Given the description of an element on the screen output the (x, y) to click on. 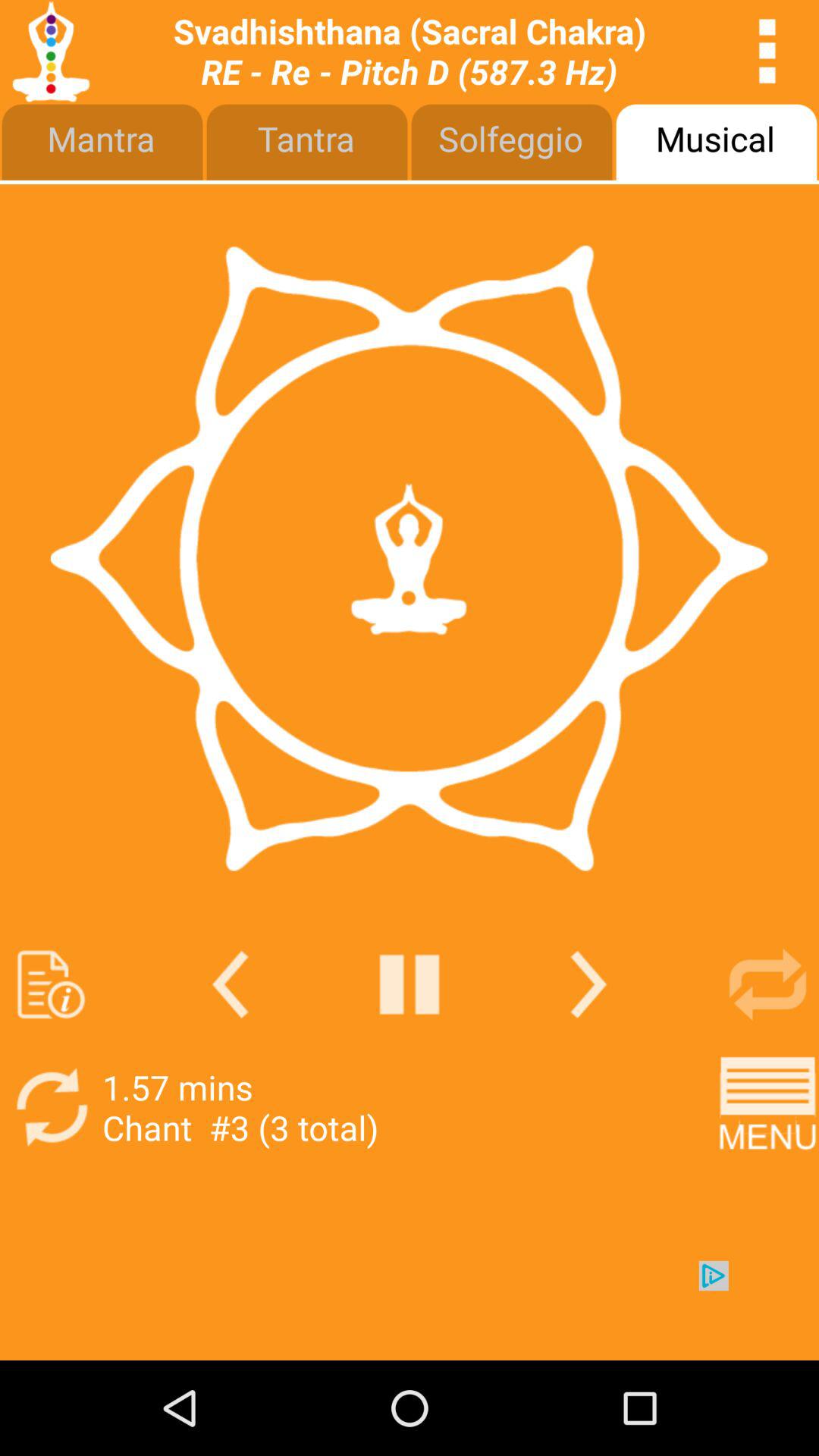
click refresh (51, 1107)
